Given the description of an element on the screen output the (x, y) to click on. 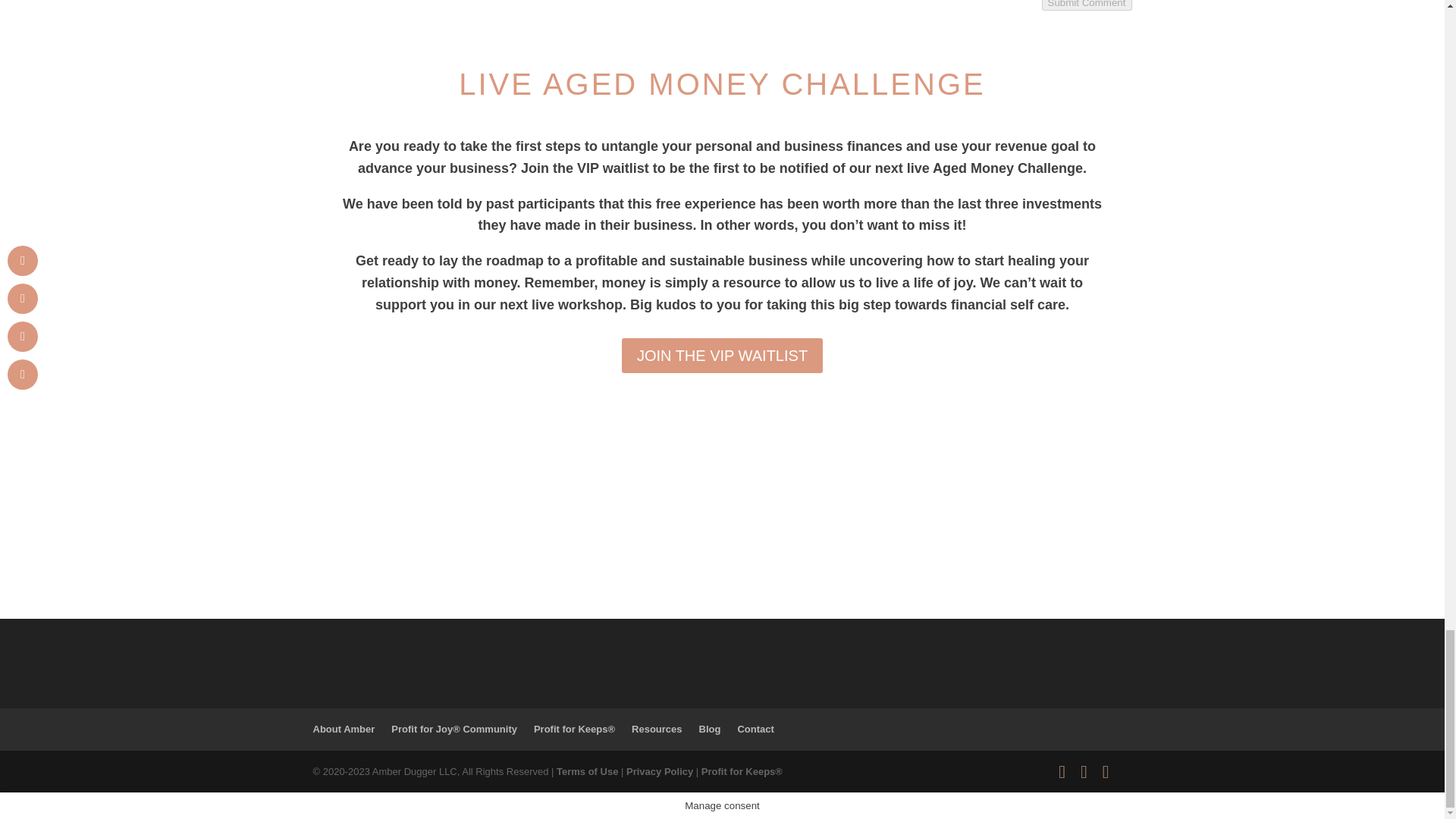
Contact (754, 728)
Submit Comment (1087, 5)
About Amber (343, 728)
Blog (709, 728)
Resources (656, 728)
JOIN THE VIP WAITLIST (721, 355)
Privacy Policy (659, 771)
Terms of Use (586, 771)
